Given the description of an element on the screen output the (x, y) to click on. 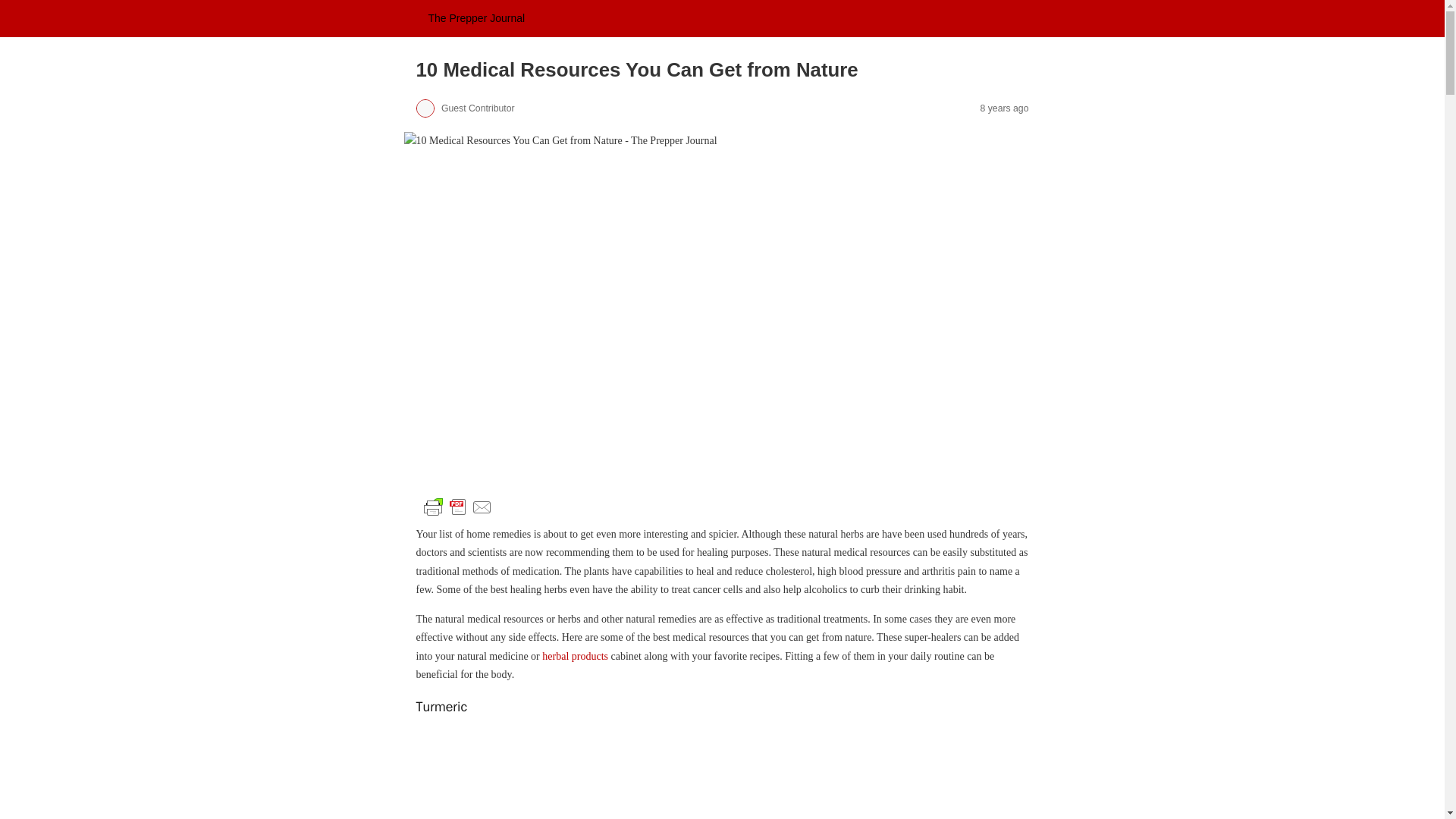
10 Medical Resources You Can Get from Nature 1 (456, 507)
herbal products (574, 655)
10 Medical Resources You Can Get from Nature 2 (721, 774)
The Prepper Journal (476, 18)
